Given the description of an element on the screen output the (x, y) to click on. 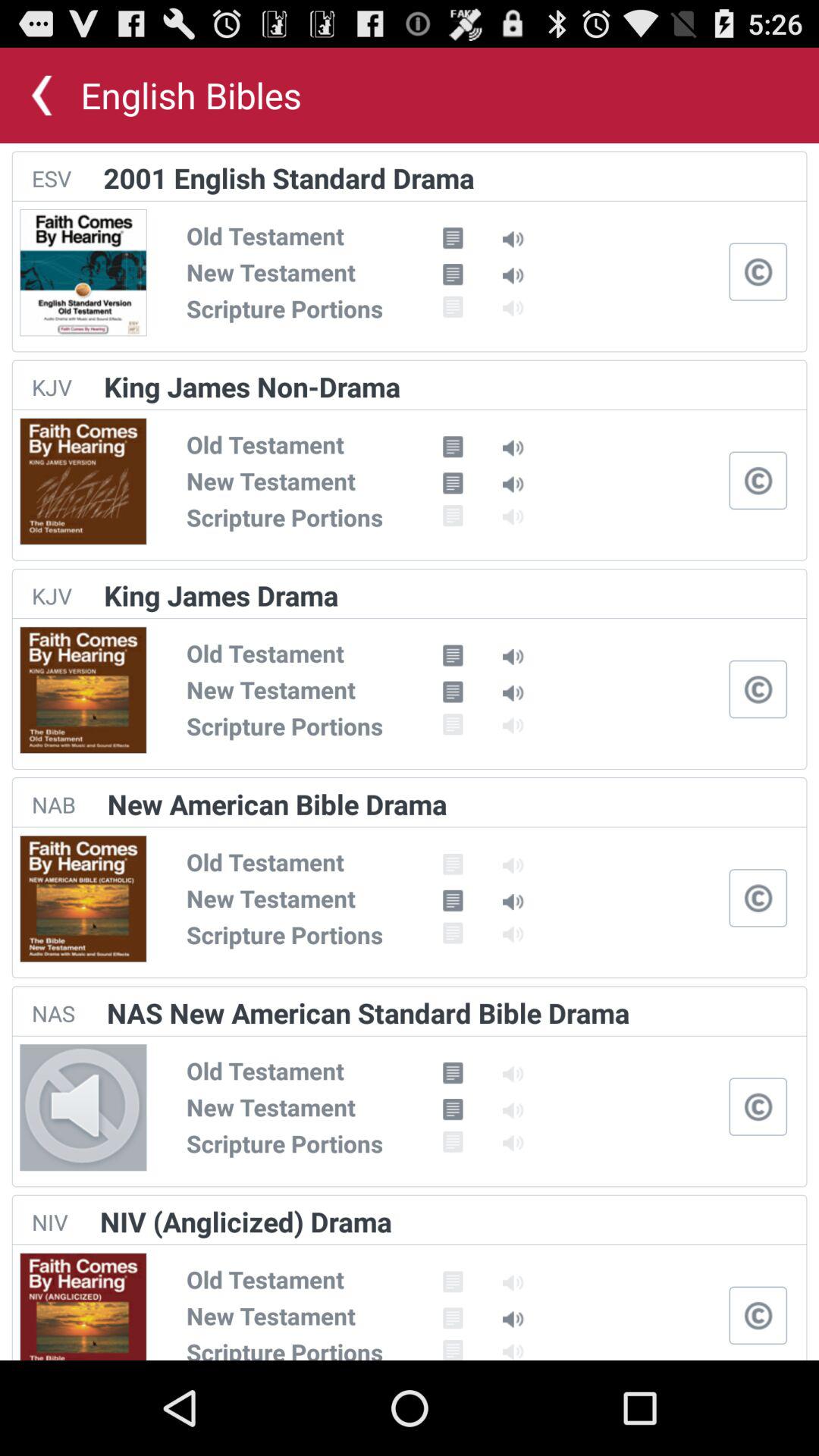
tap the niv (anglicized) drama item (245, 1221)
